Given the description of an element on the screen output the (x, y) to click on. 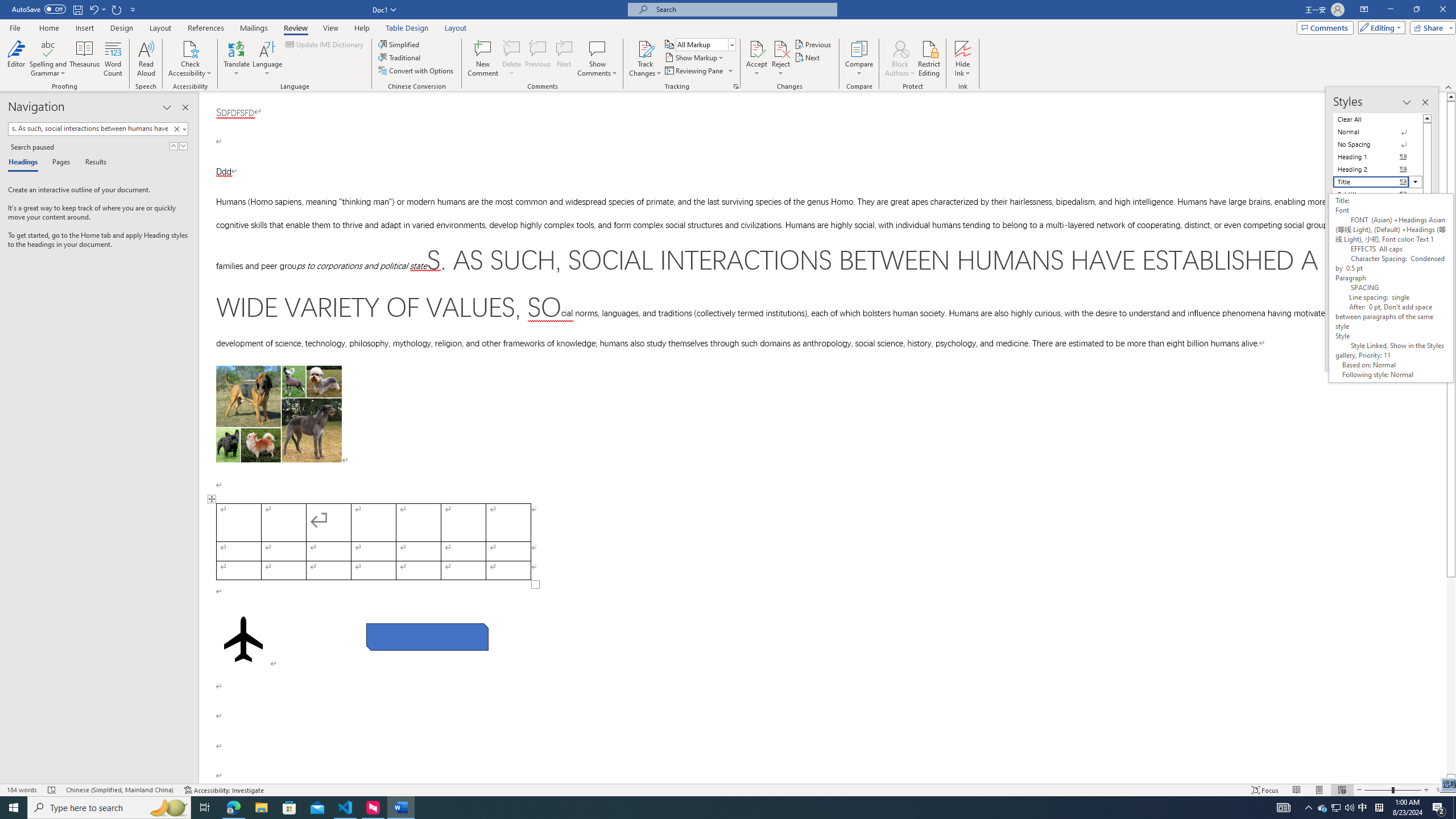
No Spacing (1377, 144)
Class: NetUIButton (1380, 355)
Track Changes (644, 48)
